Given the description of an element on the screen output the (x, y) to click on. 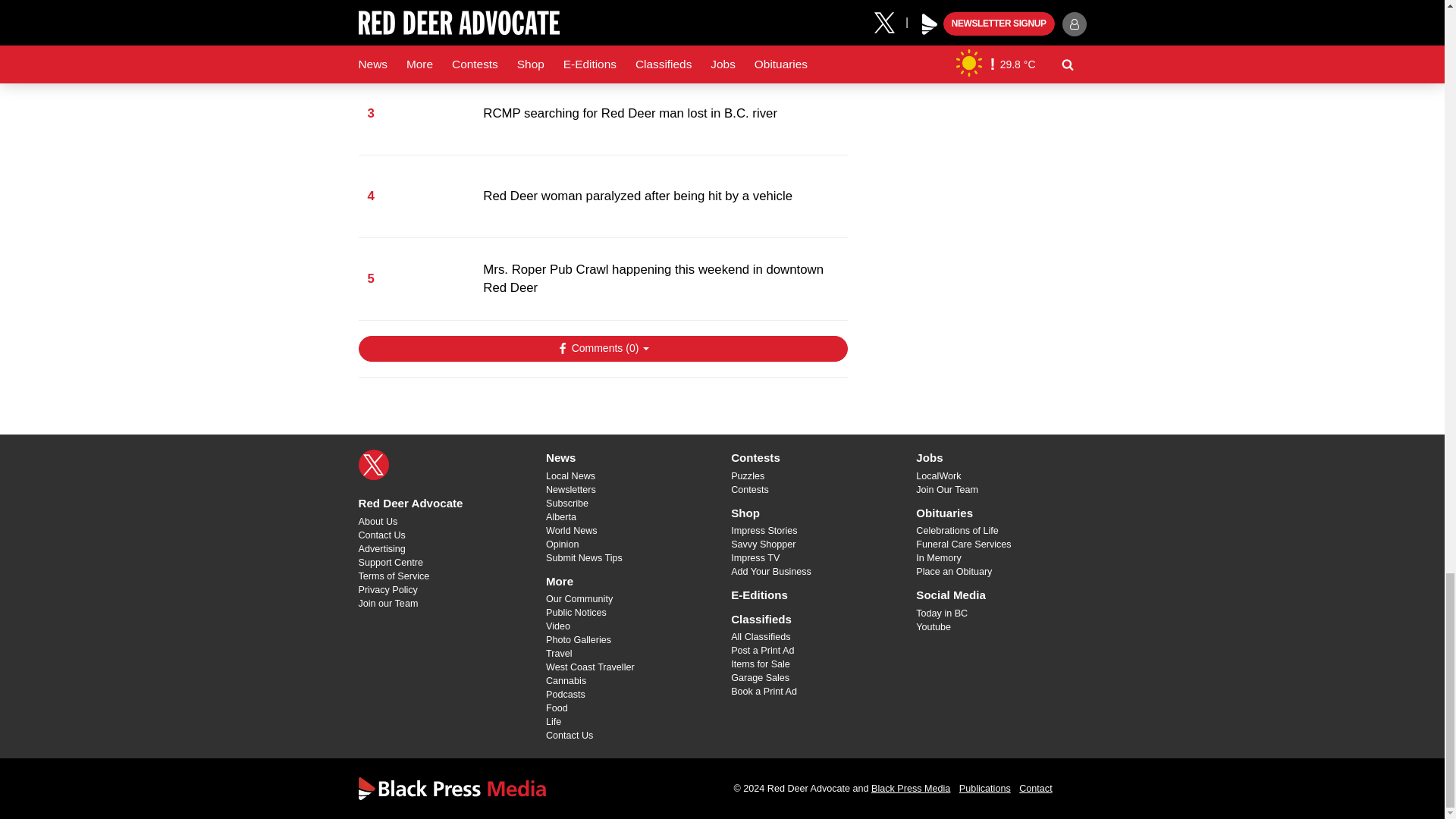
Show Comments (602, 348)
X (373, 464)
